Given the description of an element on the screen output the (x, y) to click on. 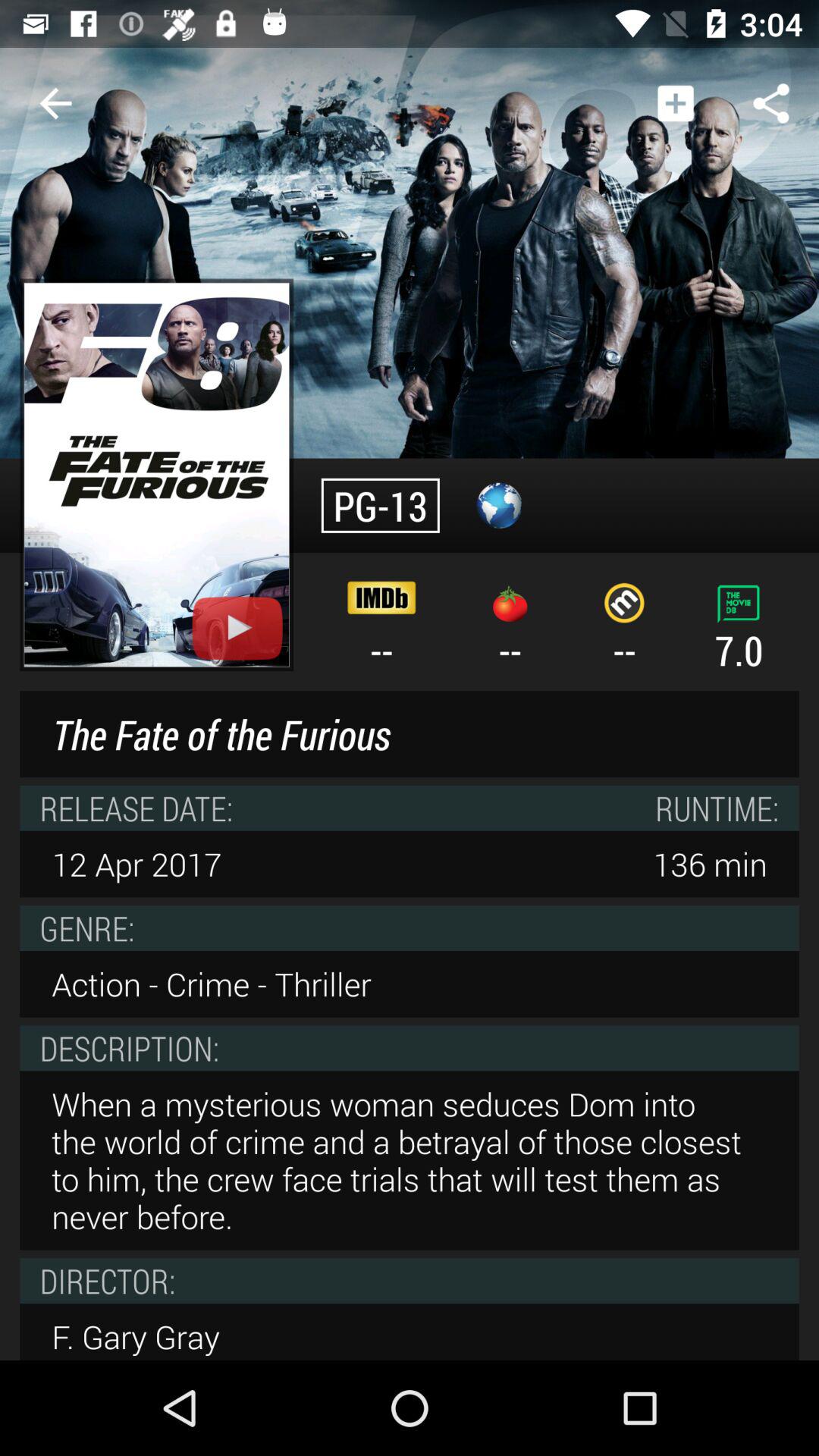
choose the -- icon (381, 624)
